Given the description of an element on the screen output the (x, y) to click on. 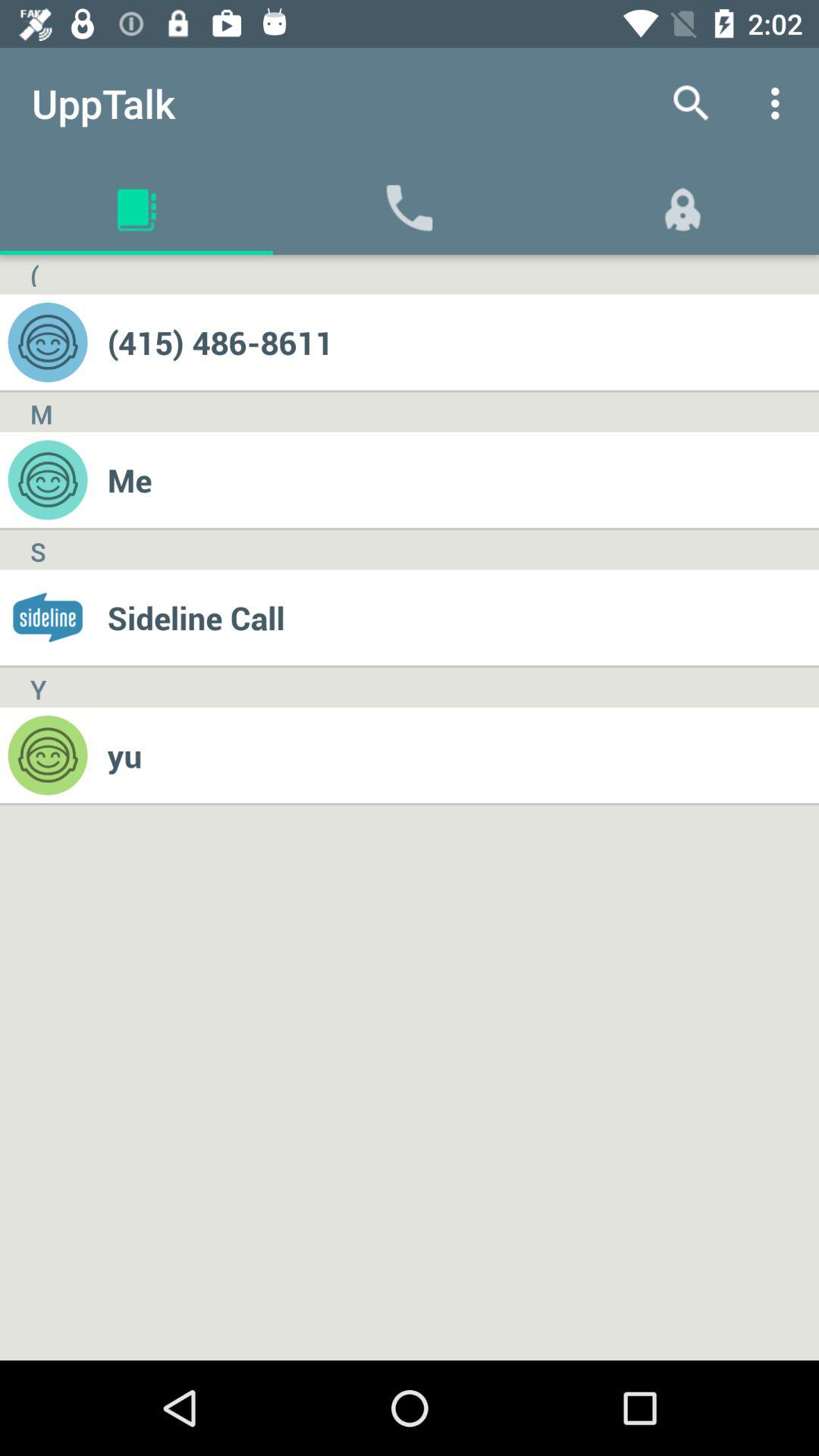
flip to me icon (463, 479)
